Given the description of an element on the screen output the (x, y) to click on. 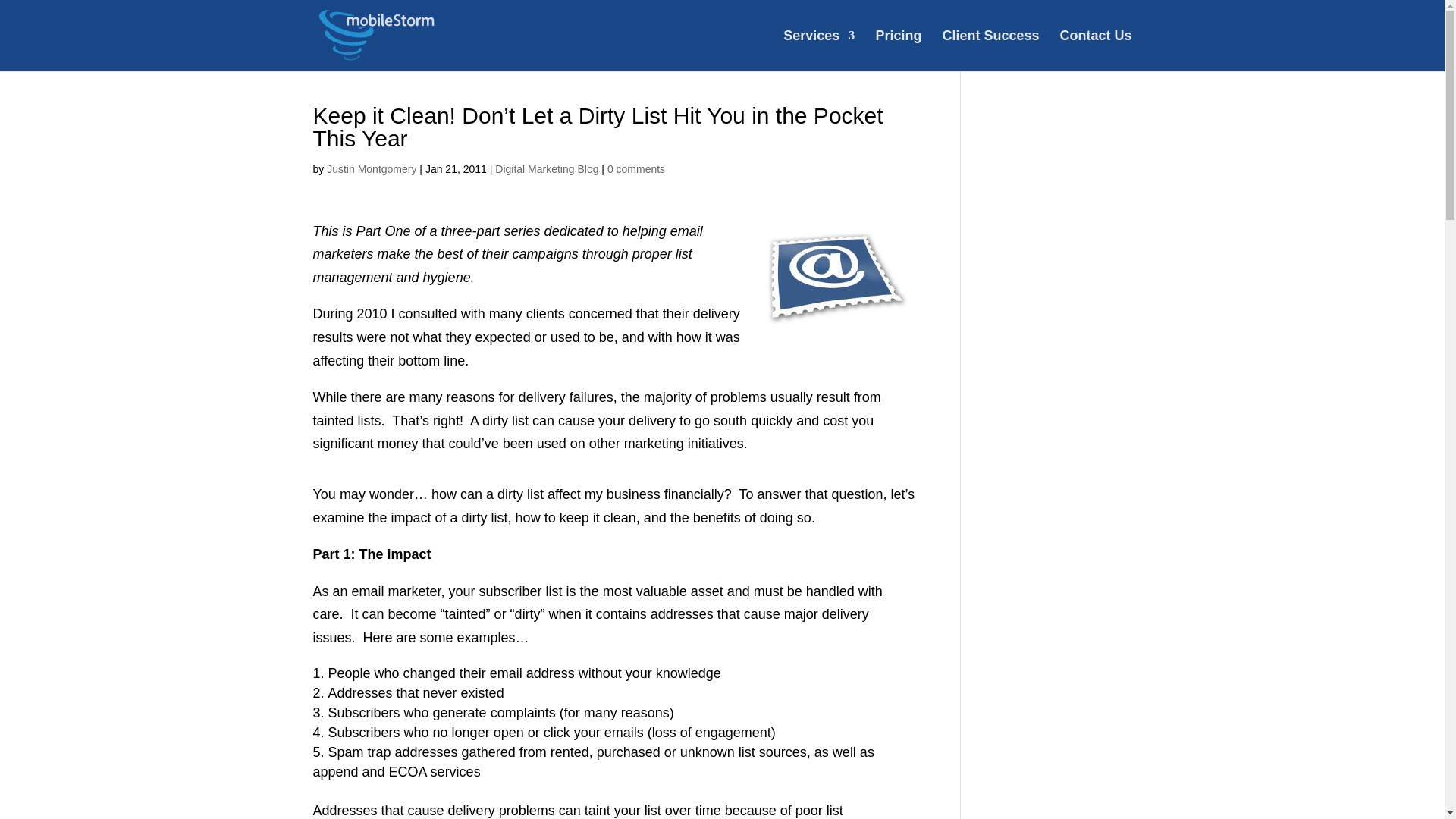
Client Success (990, 50)
0 comments (636, 168)
Services (818, 50)
Pricing (898, 50)
Contact Us (1095, 50)
Posts by Justin Montgomery (371, 168)
Digital Marketing Blog (546, 168)
Justin Montgomery (371, 168)
